Given the description of an element on the screen output the (x, y) to click on. 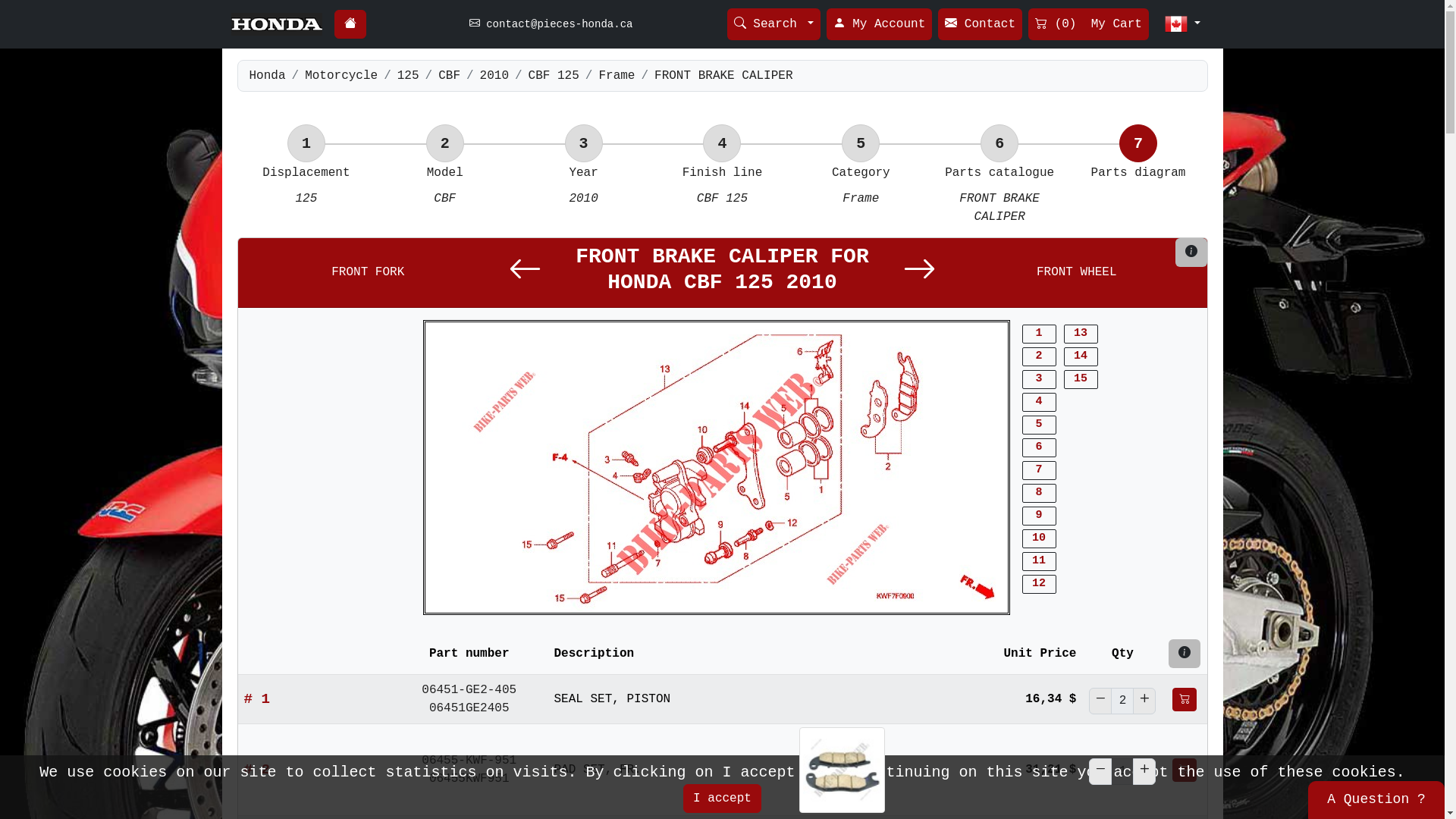
I accept Element type: text (722, 798)
4 Element type: text (721, 143)
5
Category
Frame Element type: text (860, 185)
6 Element type: text (999, 143)
6
Parts catalogue
FRONT BRAKE CALIPER Element type: text (999, 194)
2 Element type: text (445, 143)
5 Element type: text (860, 143)
4
Finish line
CBF 125 Element type: text (721, 185)
7 Element type: text (1138, 143)
3 Element type: text (583, 143)
3
Year
2010 Element type: text (583, 185)
1
Displacement
125 Element type: text (305, 185)
CBF 125 Element type: text (553, 75)
Frame Element type: text (616, 75)
FRONT FORK Element type: text (368, 272)
Honda Element type: text (266, 75)
125 Element type: text (408, 75)
Motorcycle Element type: text (340, 75)
06451-GE2-405
06451GE2405 Element type: text (468, 698)
Contact Element type: text (980, 24)
CBF Element type: text (449, 75)
1 Element type: text (306, 143)
FRONT BRAKE CALIPER Element type: text (723, 75)
Search Element type: text (773, 24)
My Account Element type: text (879, 24)
2
Model
CBF Element type: text (444, 185)
2010 Element type: text (494, 75)
7
Parts diagram Element type: text (1138, 176)
FRONT WHEEL Element type: text (1076, 272)
(0)  My Cart Element type: text (1088, 24)
06455-KWF-951
06455KWF951 Element type: text (468, 769)
FRONT BRAKE CALIPER for Honda CBF 125 2010 Element type: hover (715, 467)
